Given the description of an element on the screen output the (x, y) to click on. 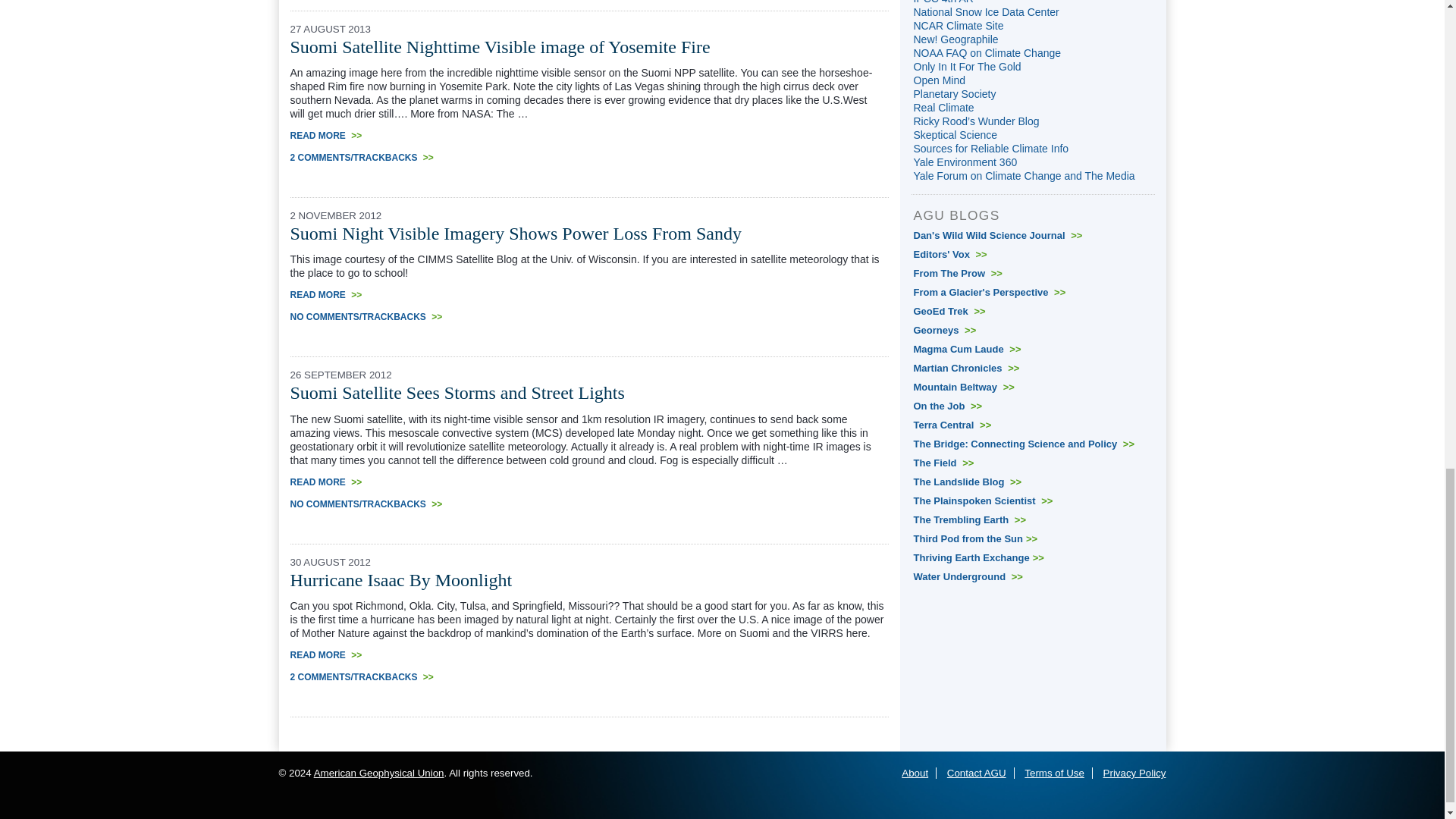
Suomi Night Visible Imagery Shows Power Loss From Sandy (515, 233)
Hurricane Isaac By Moonlight (400, 579)
Suomi Satellite Sees Storms and Street Lights (456, 392)
Permanent Link to Hurricane Isaac By Moonlight (400, 579)
Suomi Satellite Nighttime Visible image of Yosemite Fire (499, 46)
